Given the description of an element on the screen output the (x, y) to click on. 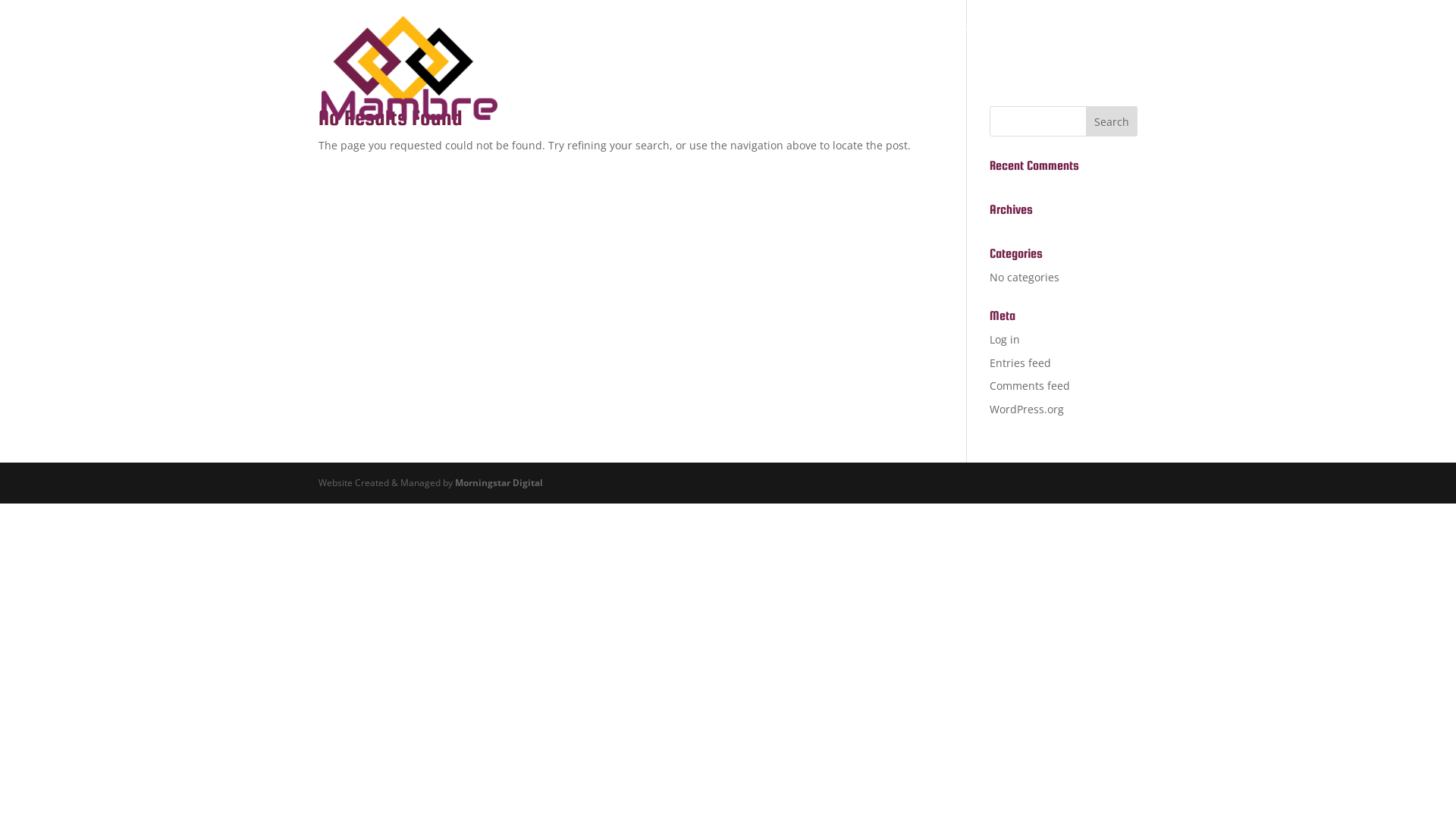
Comments feed Element type: text (1029, 385)
About Element type: text (1041, 43)
Search Element type: text (1111, 121)
WordPress.org Element type: text (1026, 408)
Log in Element type: text (1004, 339)
Services Element type: text (972, 43)
Morningstar Digital Element type: text (498, 482)
Contact Element type: text (1109, 43)
Entries feed Element type: text (1020, 362)
Home Element type: text (904, 43)
